Given the description of an element on the screen output the (x, y) to click on. 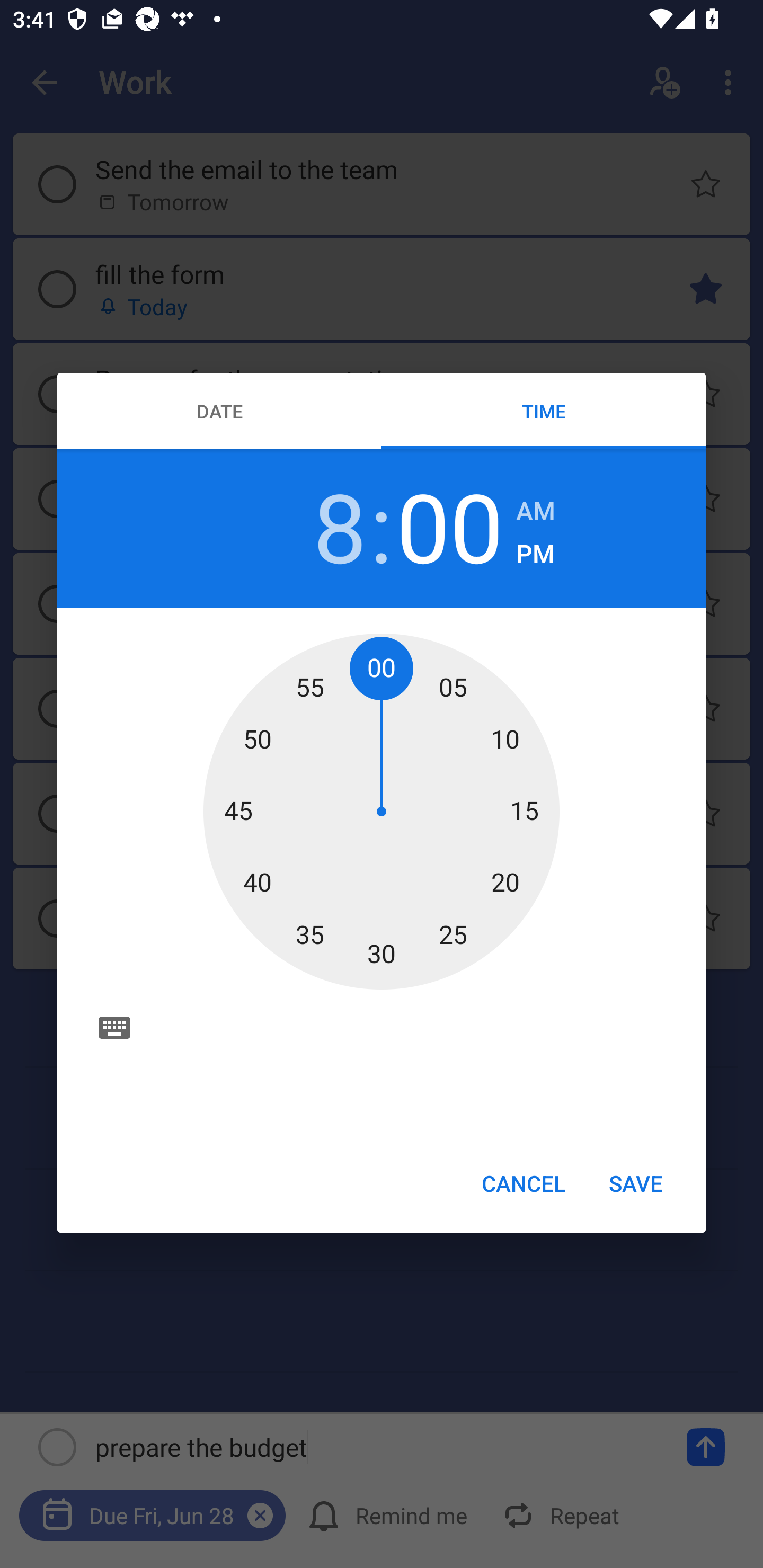
SAVE (635, 1182)
